Given the description of an element on the screen output the (x, y) to click on. 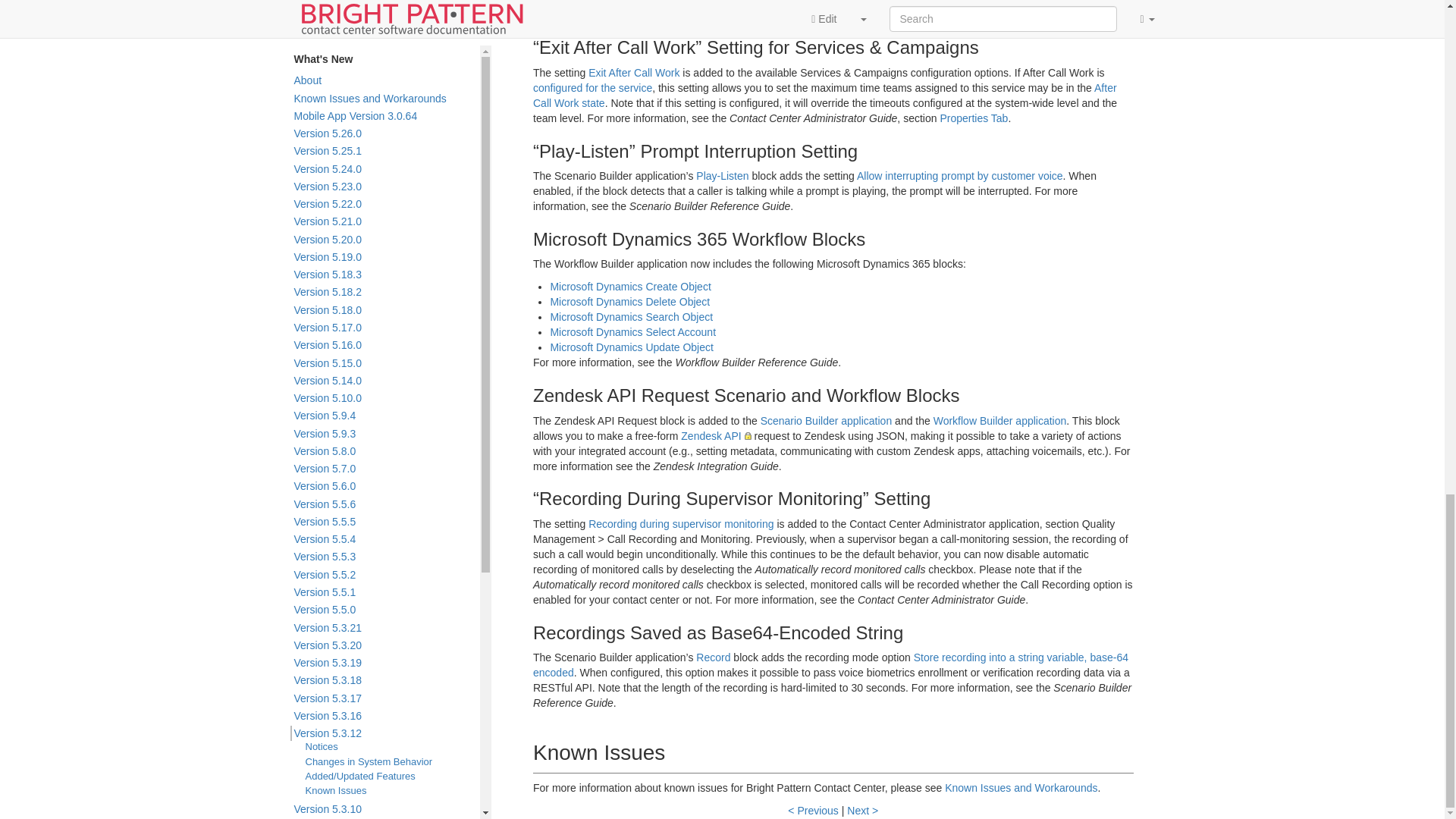
Scenario Builder application (826, 420)
Play-Listen (721, 175)
Microsoft Dynamics Delete Object (630, 301)
Allow interrupting prompt by customer voice (959, 175)
After Call Work state (824, 94)
Microsoft Dynamics Create Object (630, 286)
Microsoft Dynamics Select Account (633, 331)
Microsoft Dynamics Update Object (631, 346)
Properties Tab (973, 118)
Exit After Call Work (633, 72)
configured for the service (592, 87)
Microsoft Dynamics Search Object (631, 316)
